Given the description of an element on the screen output the (x, y) to click on. 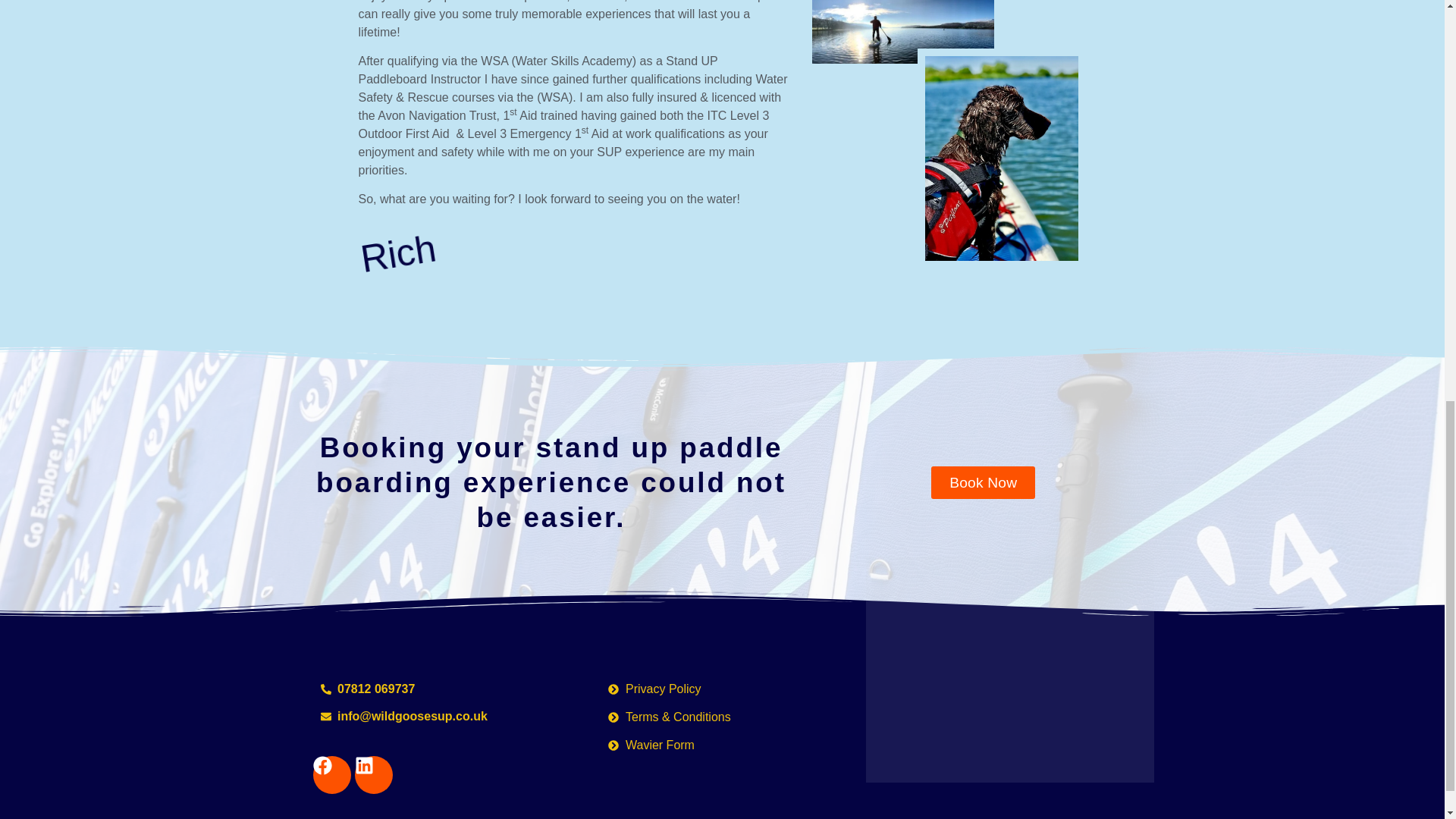
Wavier Form (721, 745)
Privacy Policy (721, 689)
Book Now (983, 482)
07812 069737 (433, 689)
